Given the description of an element on the screen output the (x, y) to click on. 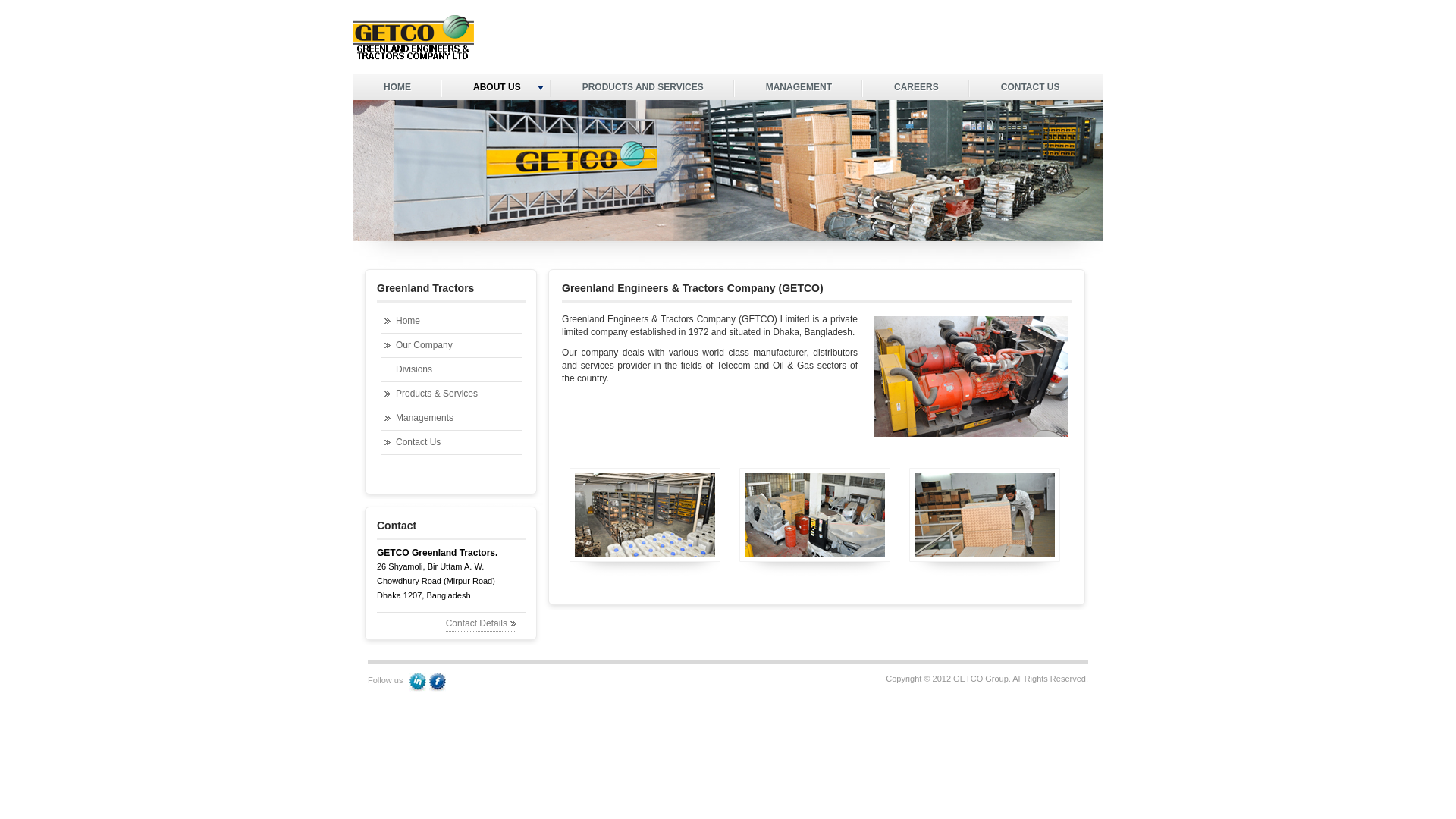
Managements Element type: text (450, 417)
Contact Details Element type: text (480, 623)
HOME Element type: text (397, 87)
ABOUT US Element type: text (496, 87)
Home Element type: text (450, 320)
Divisions Element type: text (450, 369)
MANAGEMENT Element type: text (798, 87)
CONTACT US Element type: text (1030, 87)
Our Company Element type: text (450, 345)
Products & Services Element type: text (450, 393)
CAREERS Element type: text (915, 87)
PRODUCTS AND SERVICES Element type: text (642, 87)
Contact Us Element type: text (450, 442)
